Given the description of an element on the screen output the (x, y) to click on. 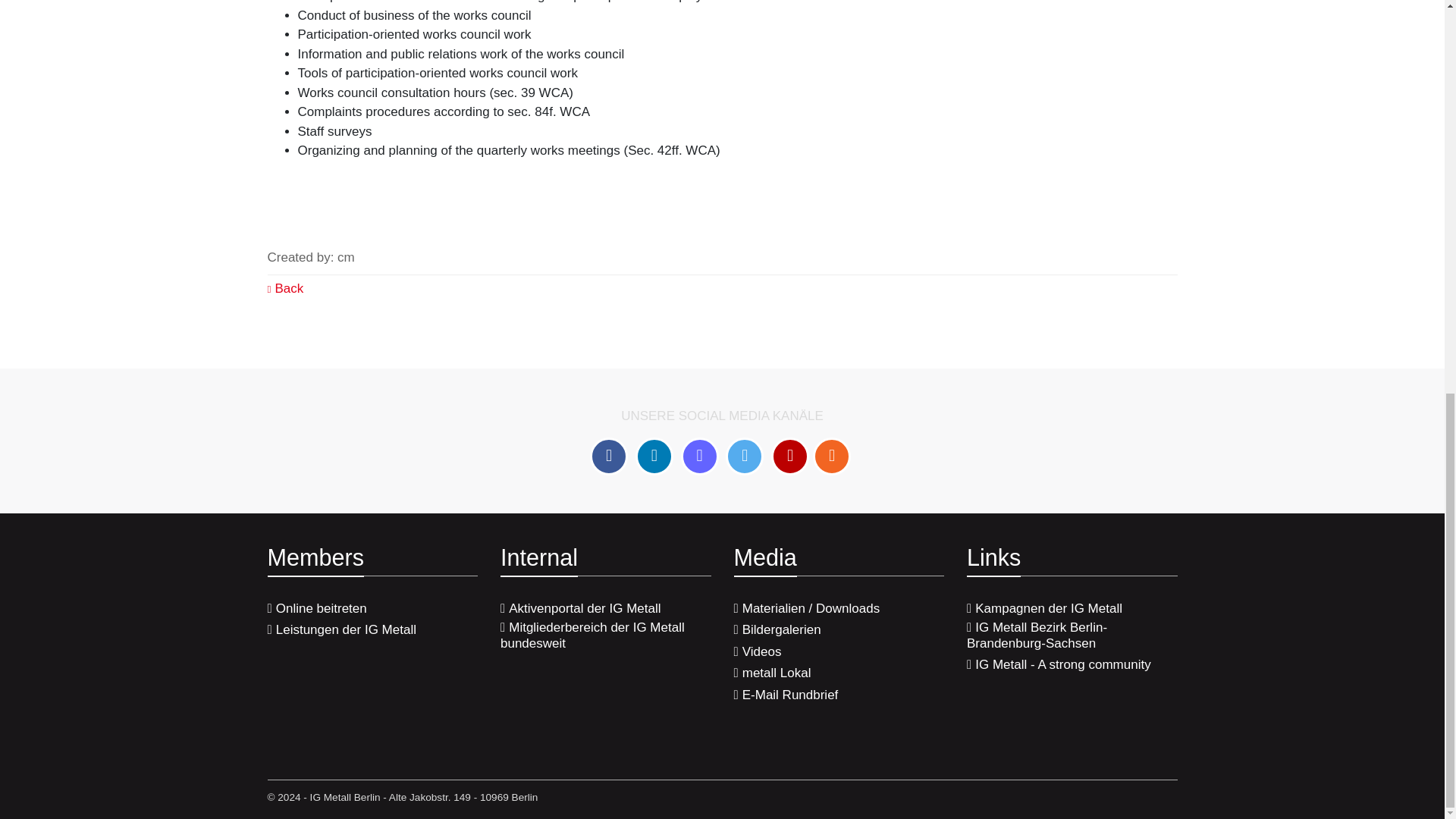
Leistungen der IG Metall (340, 630)
Mitgliederbereich der IG Metall bundesweit (605, 635)
Online beitreten (316, 608)
Kampagnen der IG Metall (1044, 608)
Wir auf Mastodon (700, 456)
Back (284, 288)
IG Metall - A strong community (1058, 664)
Aktivenportal der IG Metall (580, 608)
metall Lokal (771, 672)
Bildergalerien (777, 630)
Videos (757, 652)
IG Metall Bezirk Berlin-Brandenburg-Sachsen (1071, 635)
E-Mail Rundbrief (785, 694)
